Given the description of an element on the screen output the (x, y) to click on. 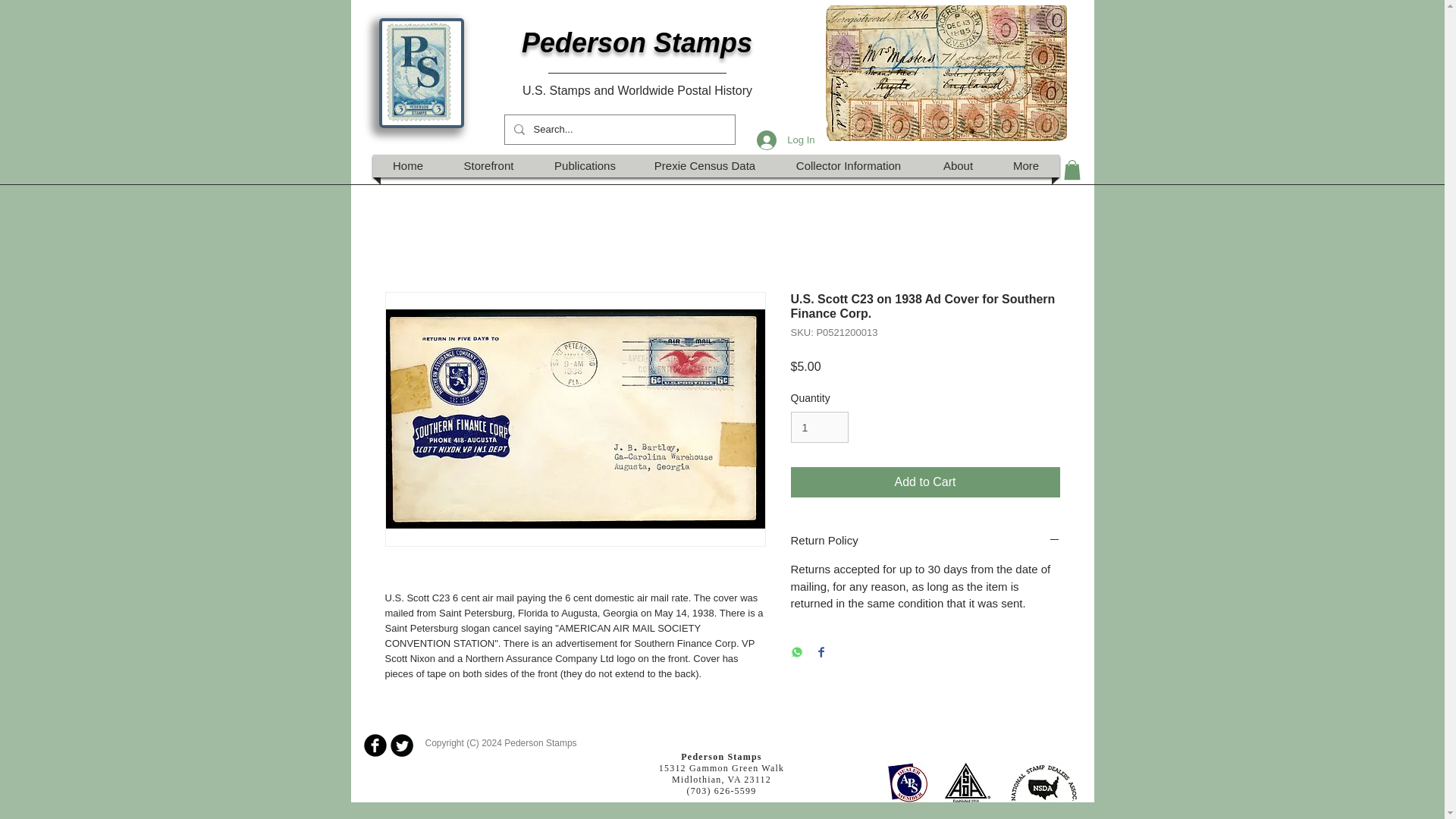
Home (407, 165)
Storefront (488, 165)
1 (818, 427)
Publications (584, 165)
Log In (785, 140)
Collector Information (848, 165)
U.S. Stamps and Worldwide Postal History (637, 90)
Pederson Stamps (636, 42)
Prexie Census Data (705, 165)
About (957, 165)
